Given the description of an element on the screen output the (x, y) to click on. 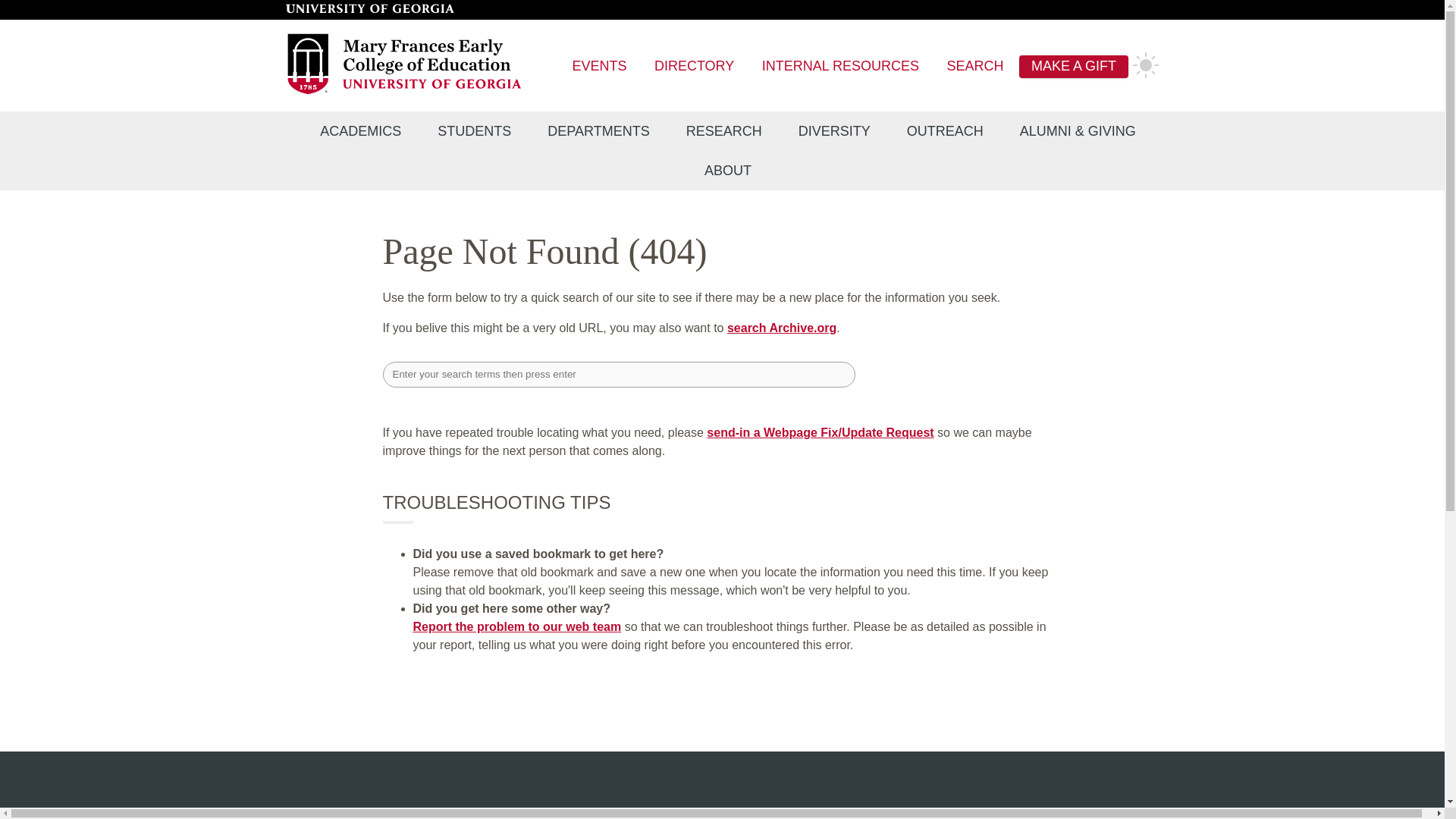
Mary Frances Early College of Education (404, 91)
ACADEMICS (360, 131)
EVENTS (599, 66)
STUDENTS (474, 131)
RESEARCH (724, 131)
SEARCH (975, 66)
MAKE A GIFT (1073, 66)
INTERNAL RESOURCES (840, 66)
Main UGA Website (368, 9)
DEPARTMENTS (597, 131)
